Given the description of an element on the screen output the (x, y) to click on. 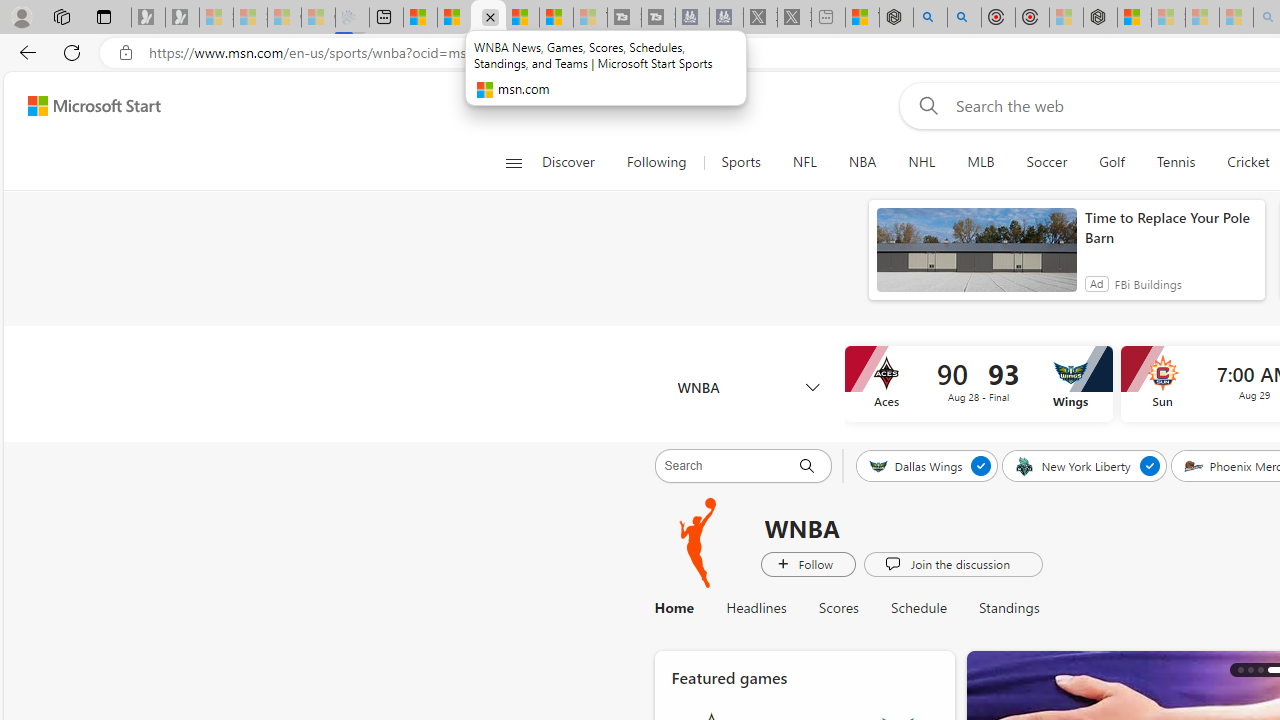
Time to Replace Your Pole Barn (1170, 227)
NBA (861, 162)
New tab - Sleeping (827, 17)
Tennis (1176, 162)
Headlines (756, 607)
Nordace - Nordace Siena Is Not An Ordinary Backpack (1100, 17)
MLB (980, 162)
Scores (838, 607)
Join the discussion (952, 563)
Standings (1000, 607)
